Given the description of an element on the screen output the (x, y) to click on. 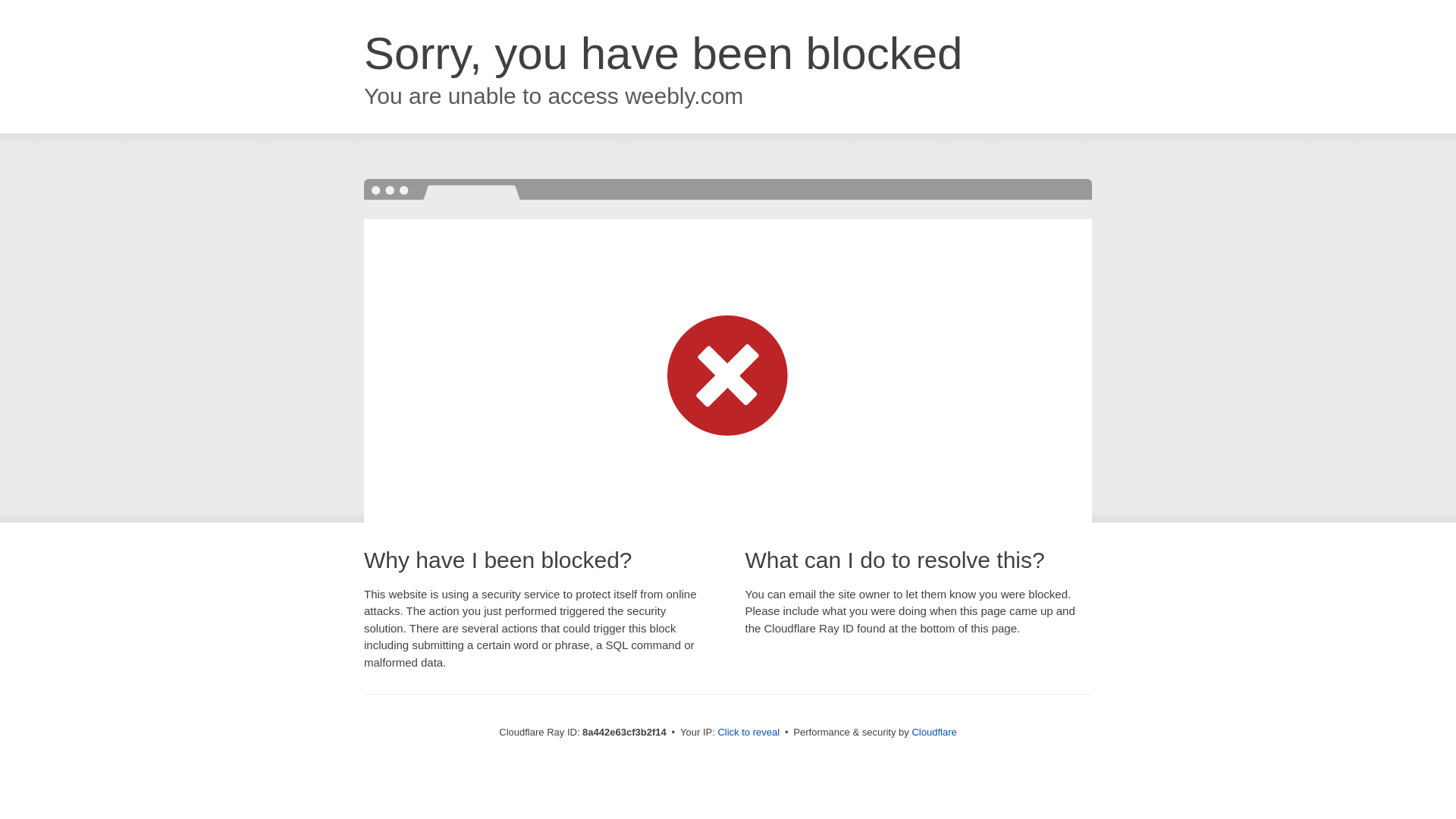
Click to reveal (747, 732)
Cloudflare (933, 731)
